Given the description of an element on the screen output the (x, y) to click on. 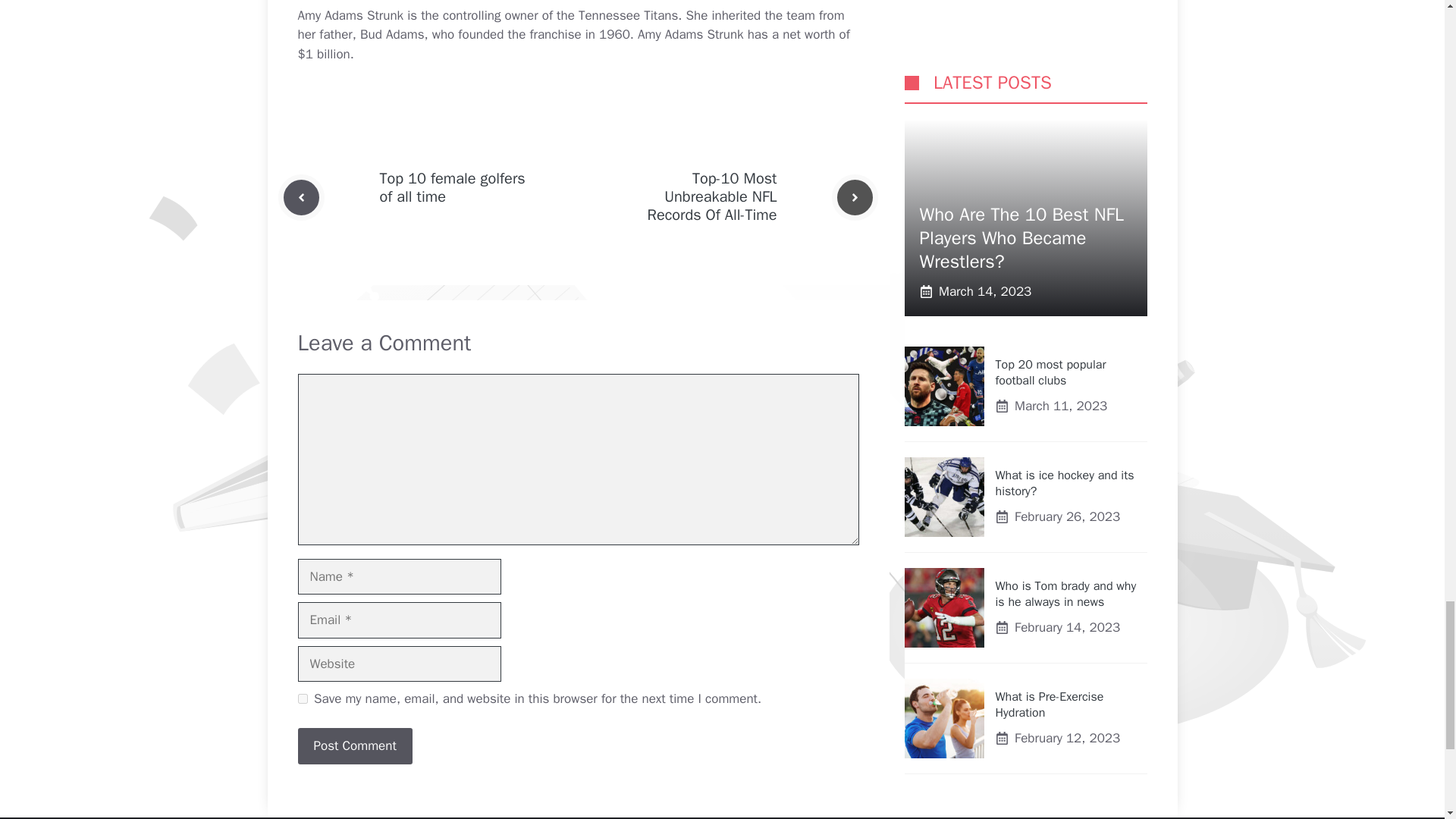
Top 10 female golfers of all time (451, 187)
Post Comment (354, 746)
Post Comment (354, 746)
Top-10 Most Unbreakable NFL Records Of All-Time (712, 196)
yes (302, 698)
